Given the description of an element on the screen output the (x, y) to click on. 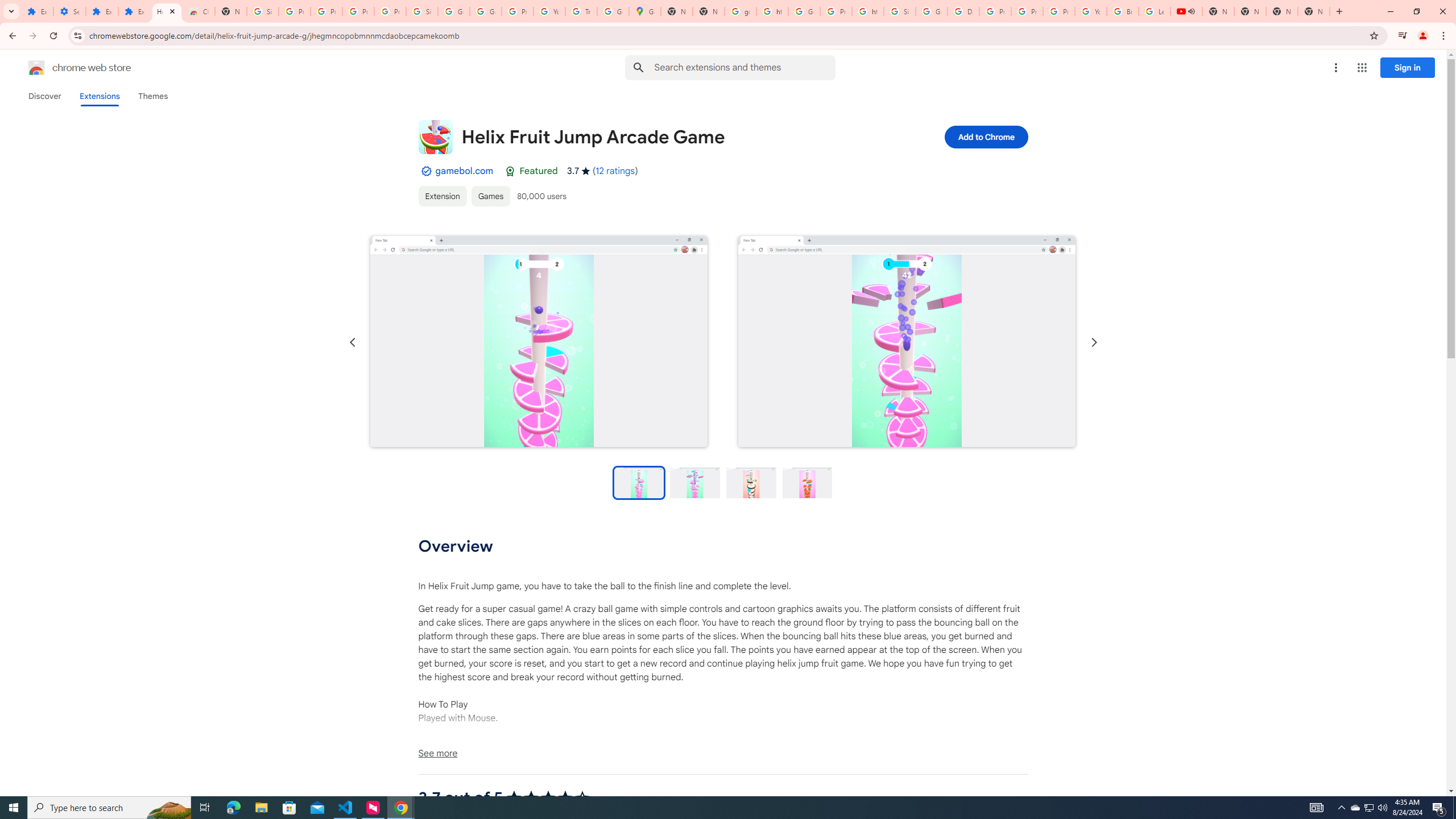
Add to Chrome (985, 136)
Games (490, 195)
12 ratings (614, 170)
Item media 2 screenshot (906, 341)
Discover (43, 95)
Extensions (101, 11)
